Given the description of an element on the screen output the (x, y) to click on. 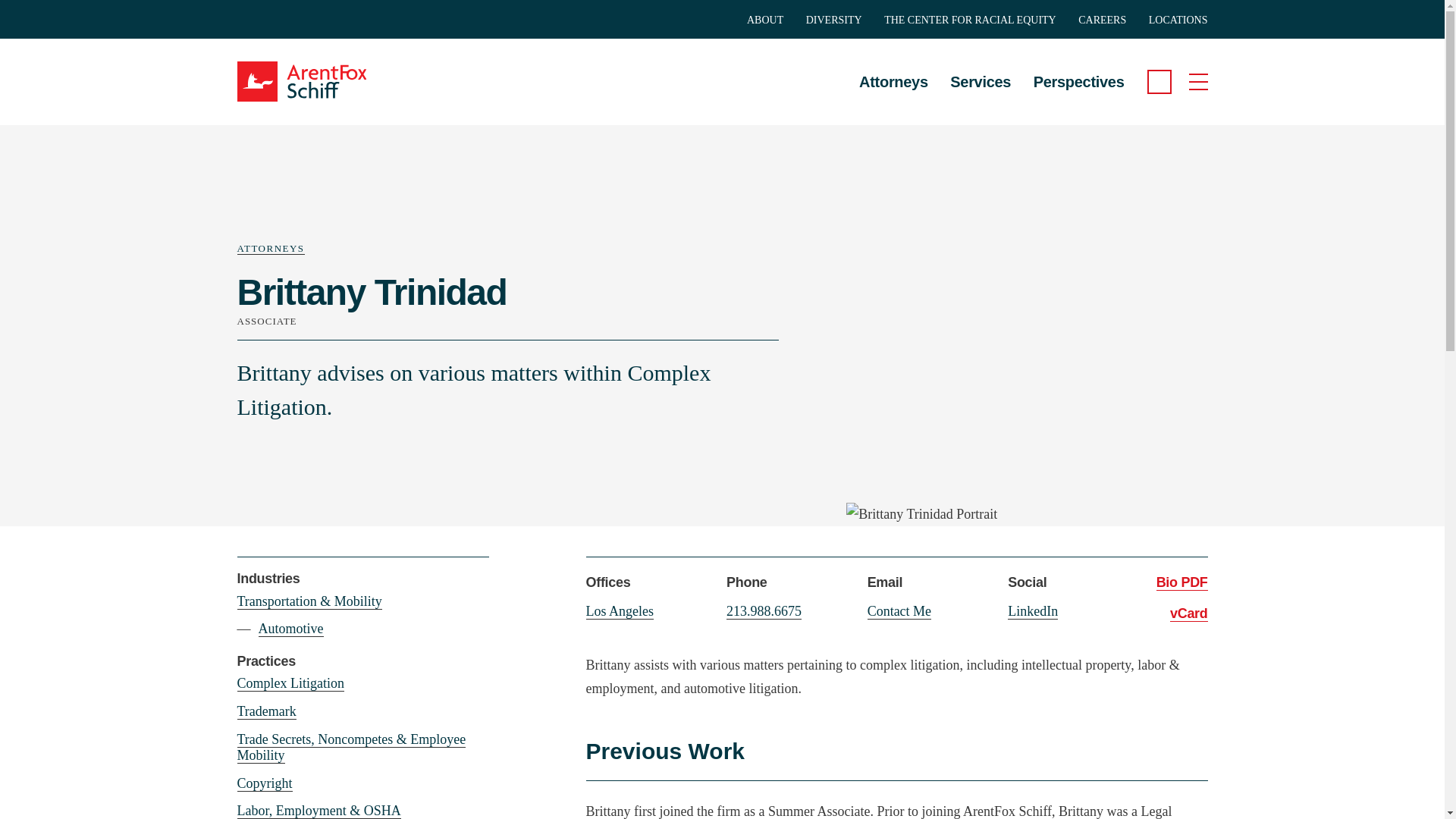
ABOUT (764, 20)
Home (319, 81)
THE CENTER FOR RACIAL EQUITY (970, 20)
Services (980, 70)
Perspectives (1078, 70)
CAREERS (1101, 20)
DIVERSITY (833, 20)
LOCATIONS (1178, 20)
Attorneys (893, 70)
Search the Site (1158, 81)
